Given the description of an element on the screen output the (x, y) to click on. 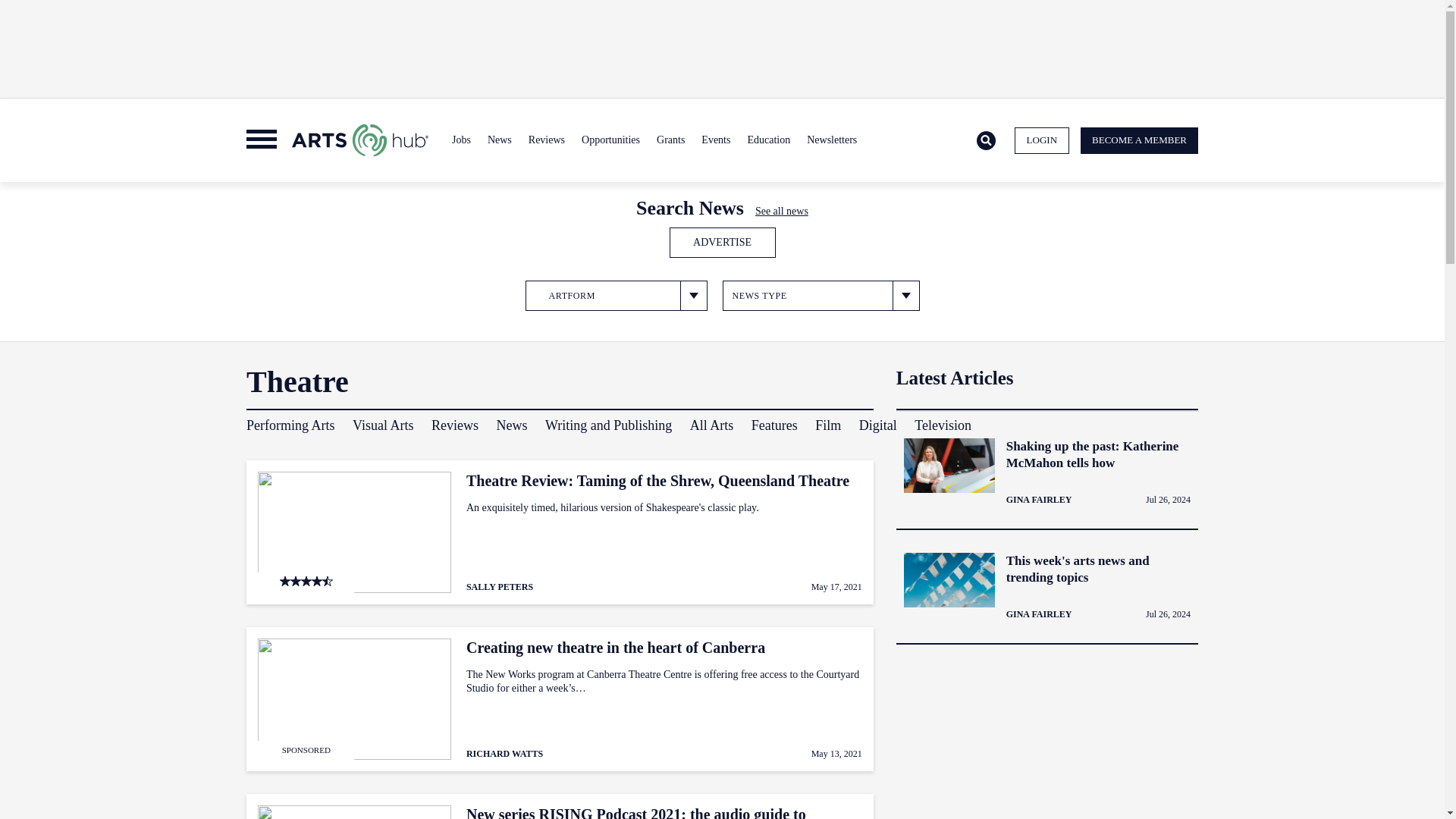
News (498, 139)
Search Icon (985, 140)
Education (768, 139)
Jobs (461, 139)
BECOME A MEMBER (1139, 140)
Newsletters (832, 139)
Events (715, 139)
Reviews (546, 139)
LOGIN (1041, 140)
Grants (670, 139)
Search Icon (985, 139)
Opportunities (610, 139)
